Given the description of an element on the screen output the (x, y) to click on. 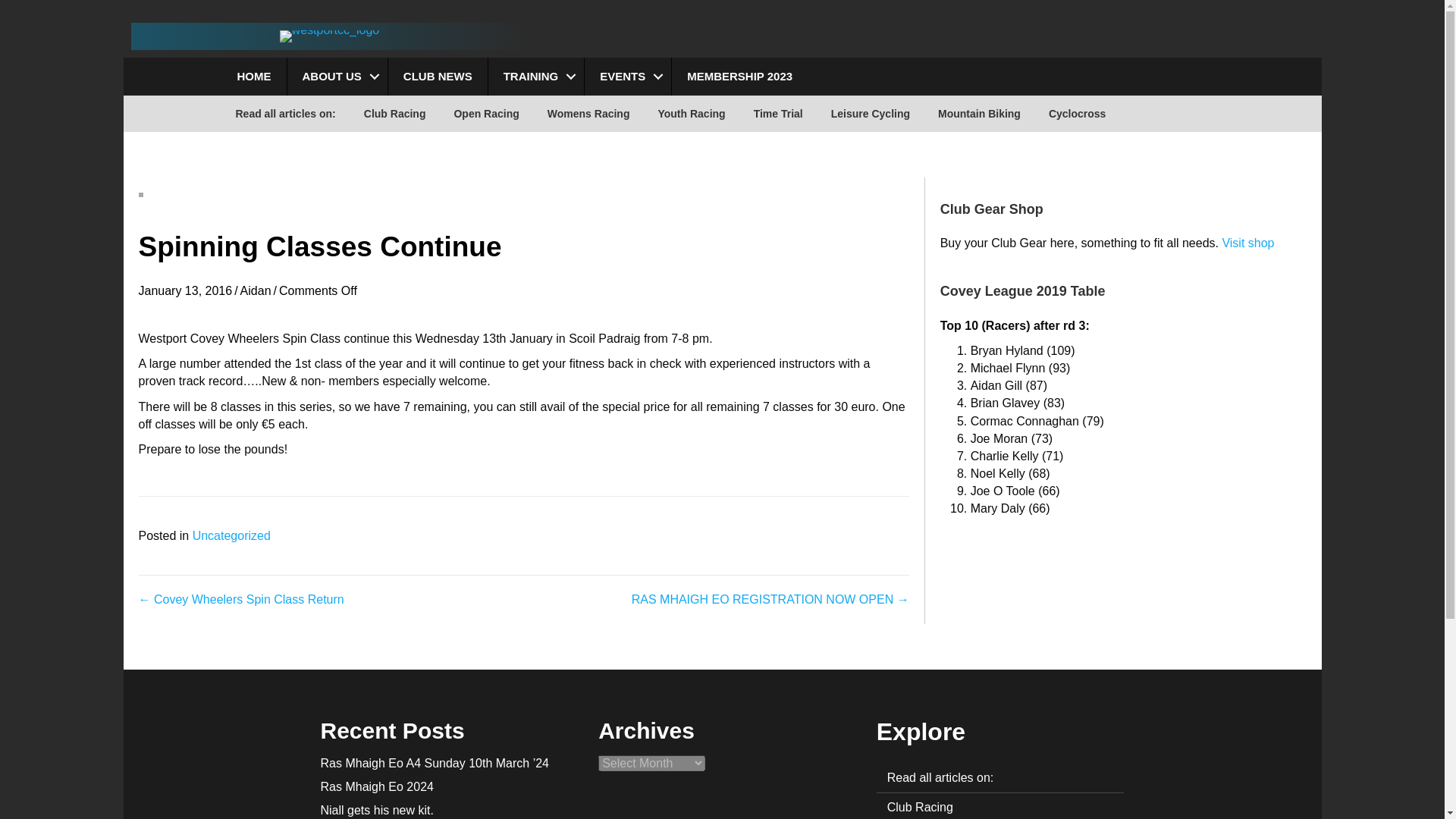
Club Racing (394, 113)
Aidan (255, 290)
Cyclocross (1077, 113)
Read all articles on: (1000, 777)
CLUB NEWS (437, 76)
Niall gets his new kit. (376, 809)
MEMBERSHIP 2023 (739, 76)
Youth Racing (690, 113)
Read all articles on: (285, 113)
Mountain Biking (978, 113)
